Given the description of an element on the screen output the (x, y) to click on. 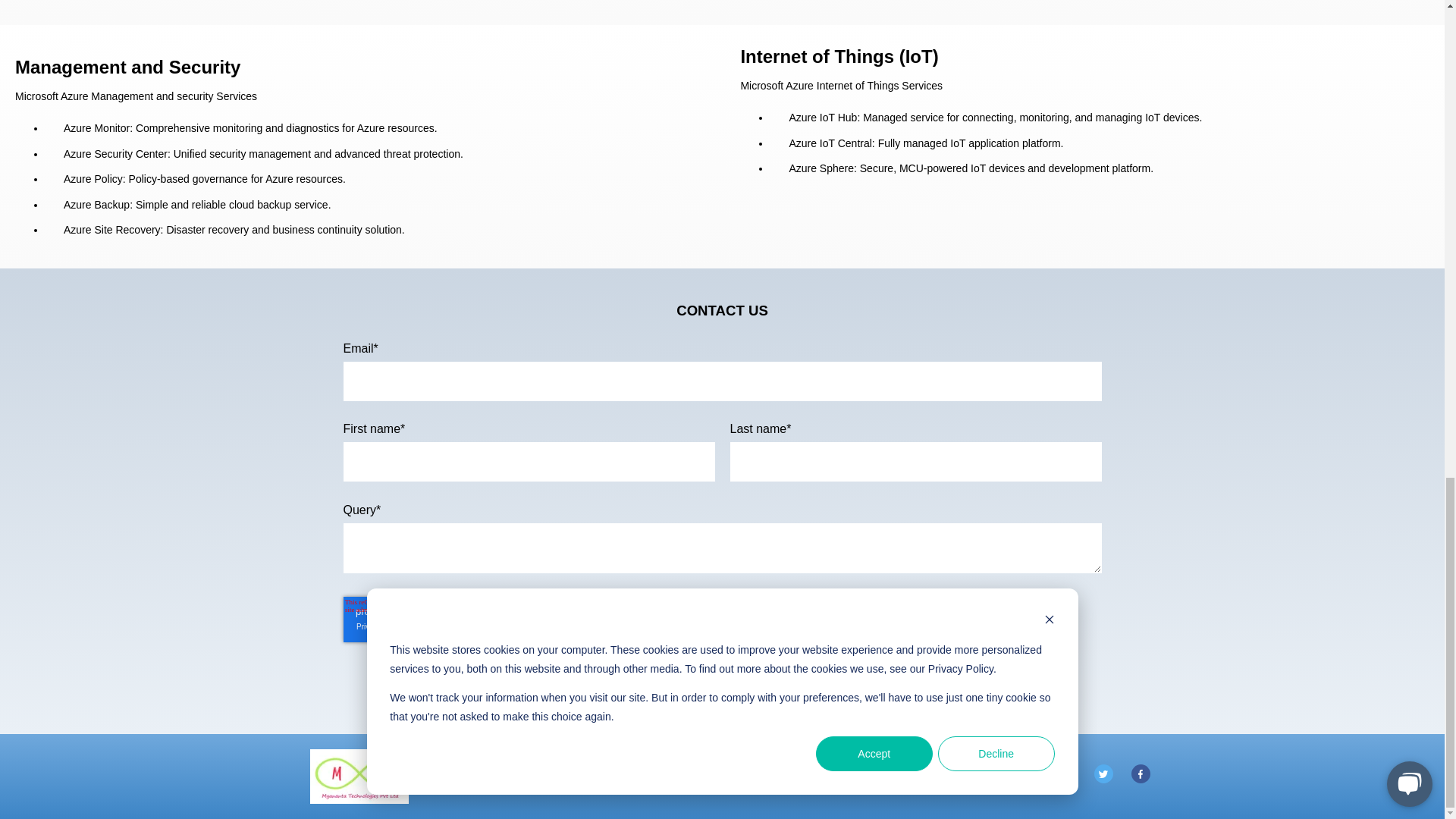
Submit (722, 689)
Myananta Technologies (359, 776)
Submit (722, 689)
reCAPTCHA (439, 619)
